Given the description of an element on the screen output the (x, y) to click on. 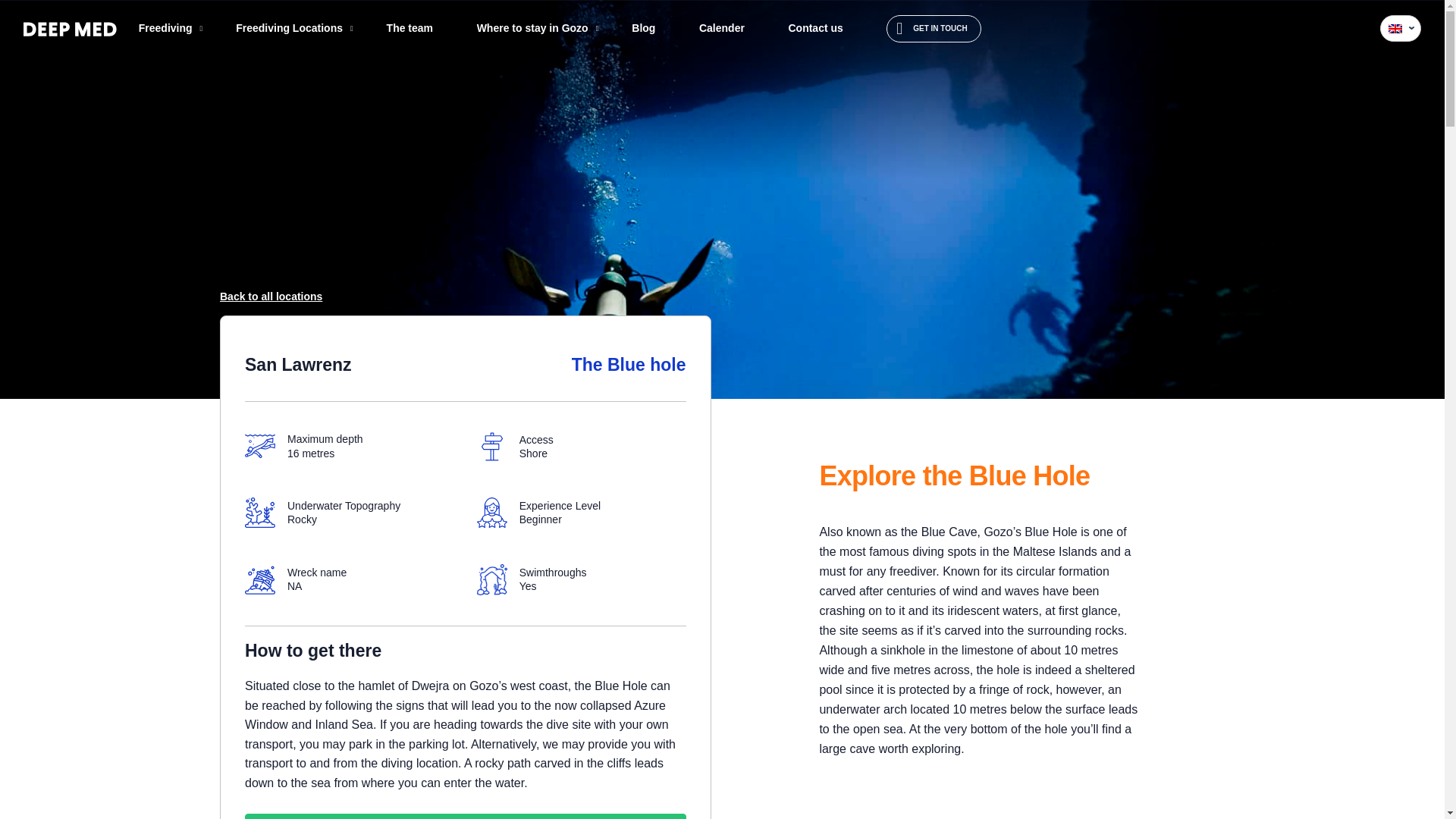
Calender (721, 28)
Home (35, 412)
GET IN TOUCH (933, 28)
The team (409, 28)
Freediving (165, 28)
Contact us (815, 28)
Freediving Locations (288, 28)
Where to stay in Gozo (532, 28)
Back to all locations (270, 296)
Deep Med (69, 28)
